Given the description of an element on the screen output the (x, y) to click on. 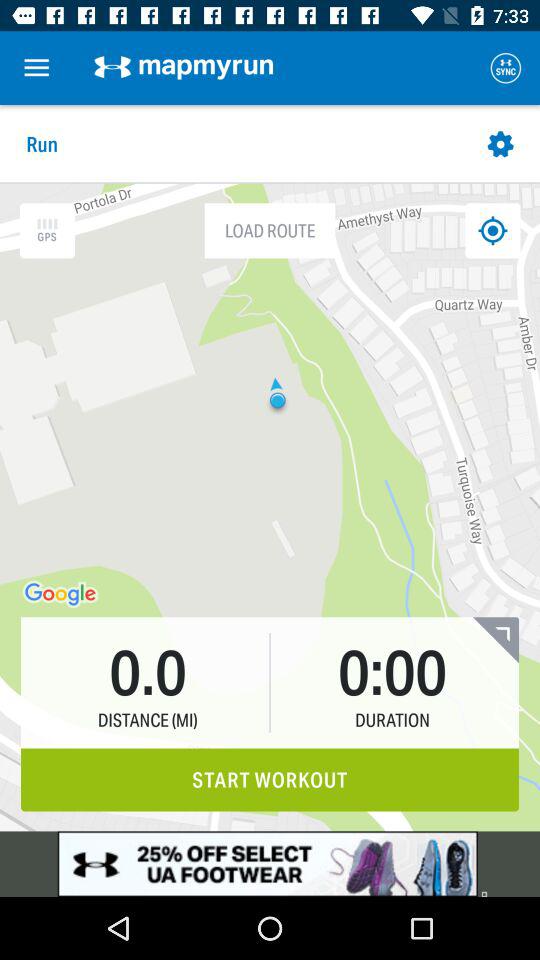
select the icon which is left to the load route (47, 230)
select the option which is right to the menu icon (184, 67)
click on the icon which is right to the load route (492, 230)
click on the load route (269, 230)
select the start workout (269, 780)
tap on the settings icon (501, 144)
